Given the description of an element on the screen output the (x, y) to click on. 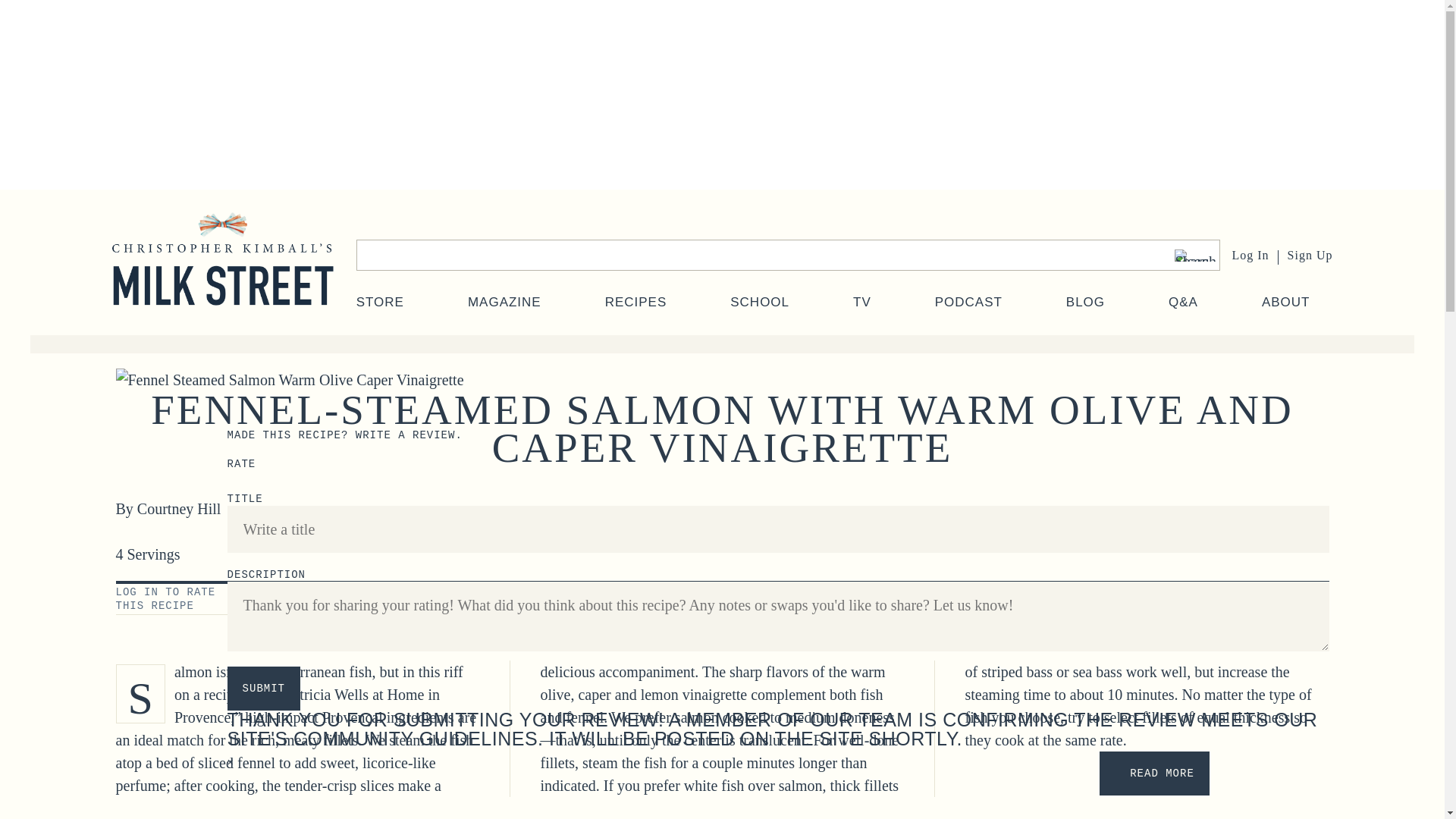
Search (1193, 255)
Christopher Kimball's Milk Street (222, 274)
Submit (263, 688)
STORE (380, 301)
Log In (1249, 255)
Sign Up (1310, 255)
MAGAZINE (504, 301)
